Given the description of an element on the screen output the (x, y) to click on. 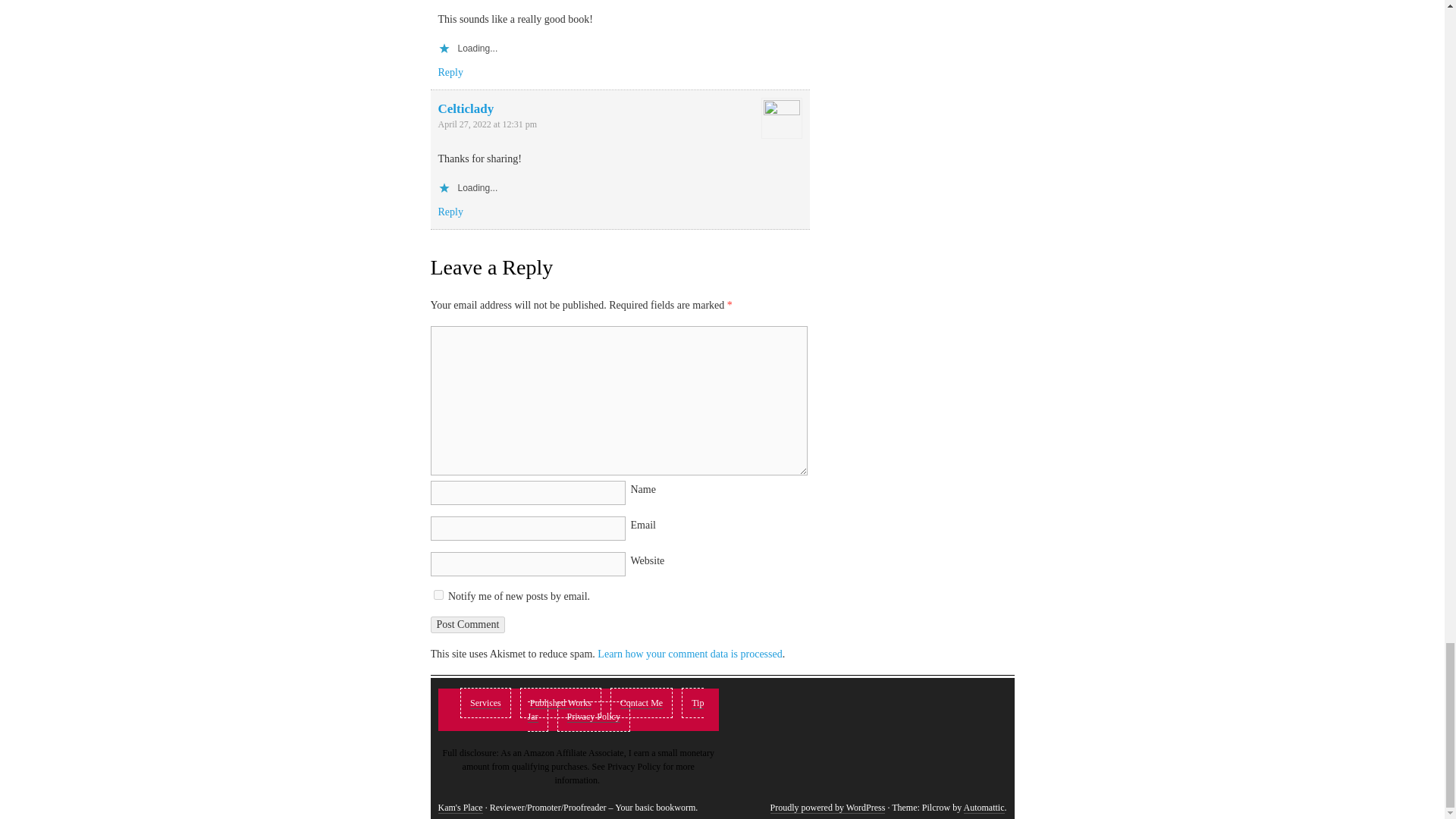
Post Comment (467, 624)
subscribe (438, 594)
